Given the description of an element on the screen output the (x, y) to click on. 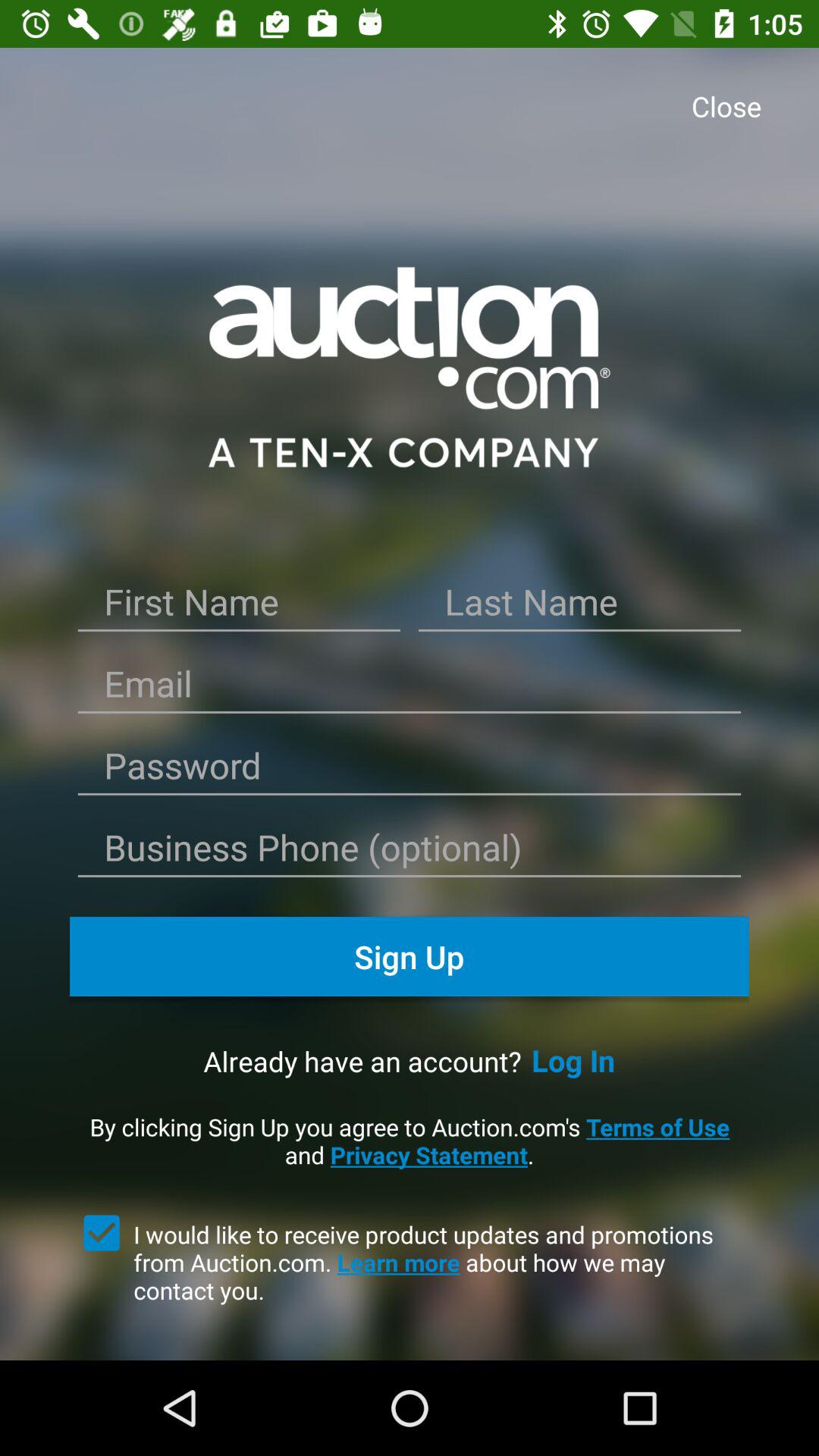
first name colomn (238, 607)
